Given the description of an element on the screen output the (x, y) to click on. 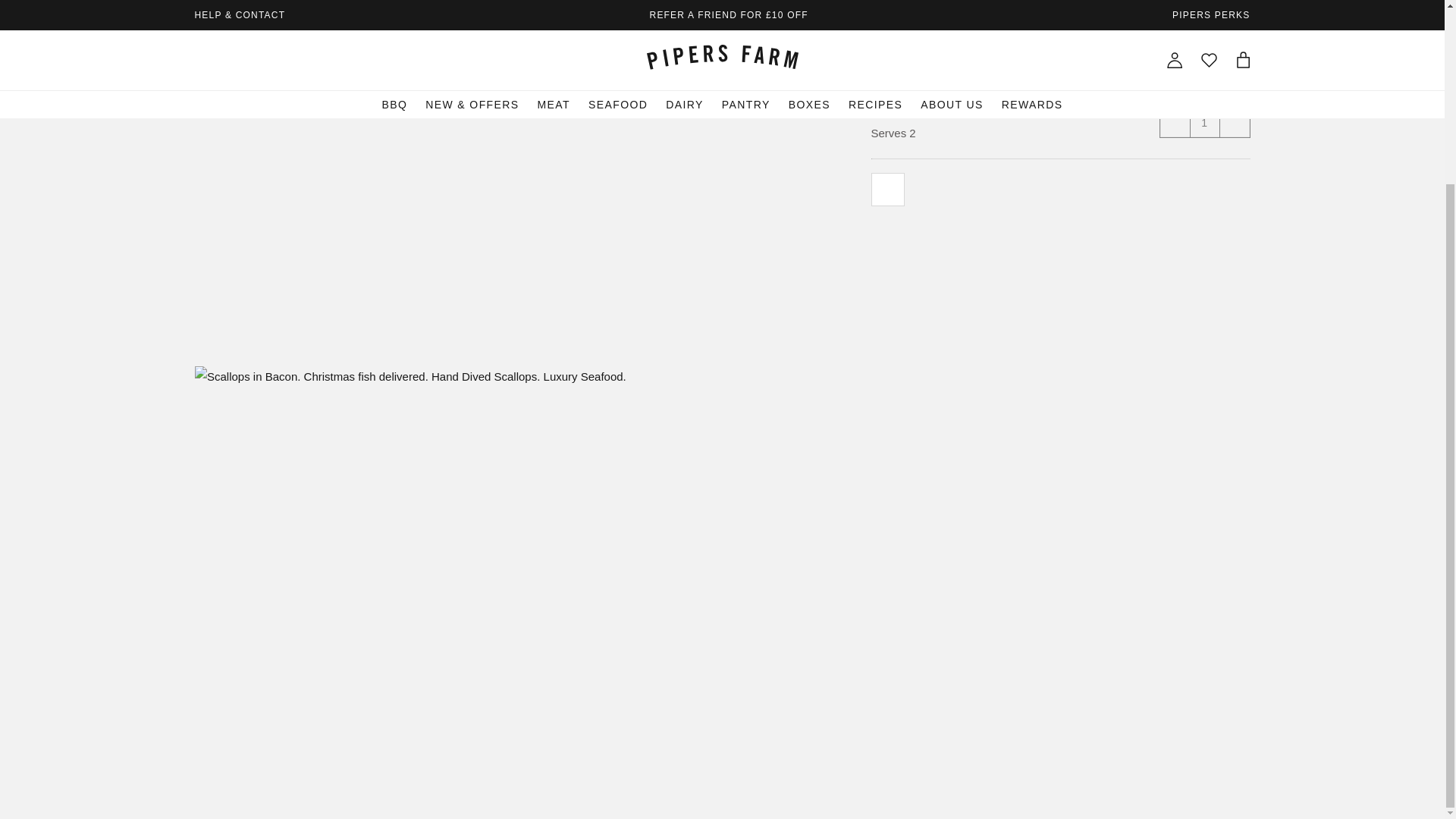
1 (1204, 122)
